Given the description of an element on the screen output the (x, y) to click on. 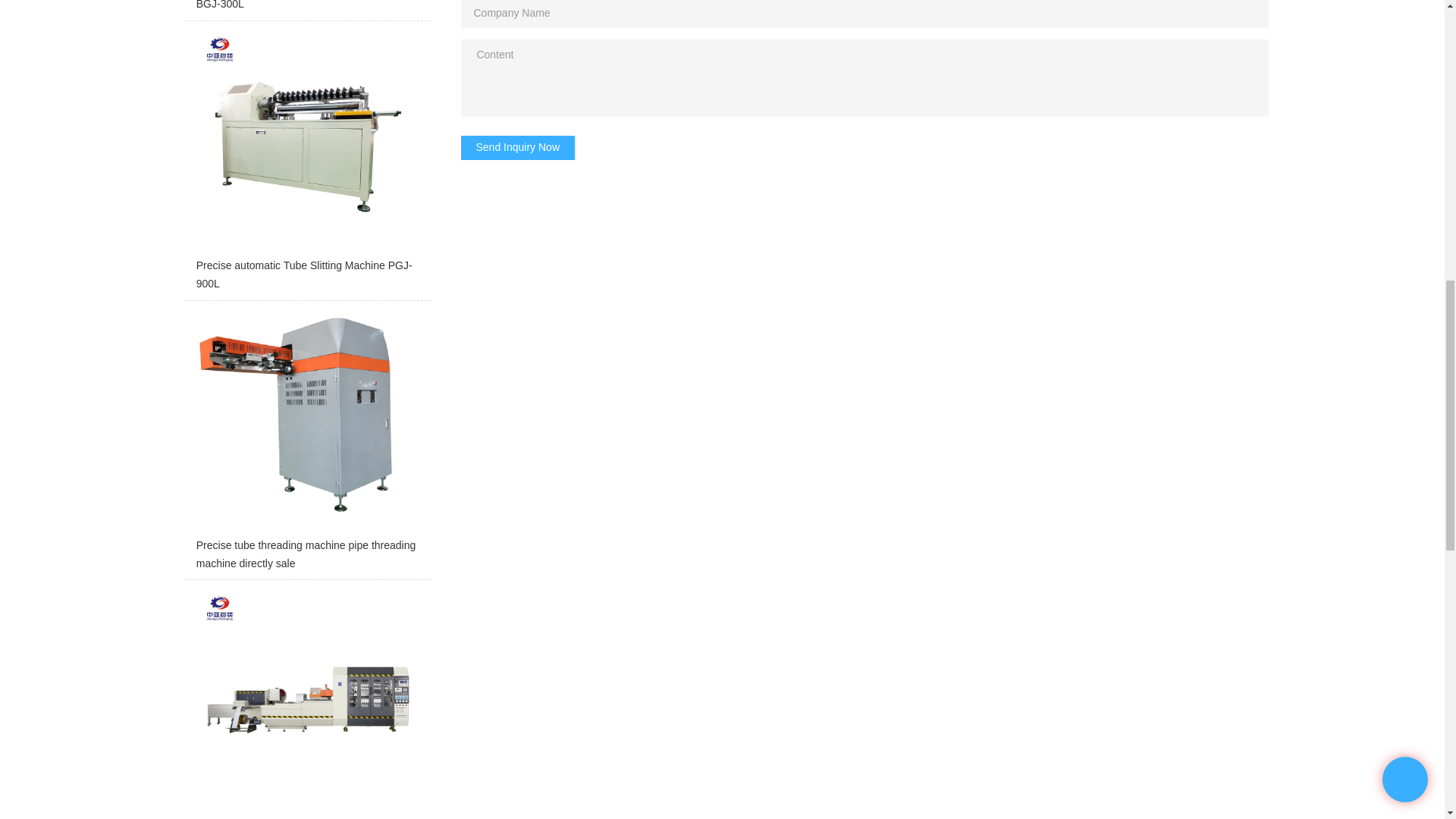
Precise automatic Tube Slitting Machine PGJ-900L (306, 164)
Full automatic label machine production line BGJ-300L (306, 10)
Send Inquiry Now (518, 147)
